Given the description of an element on the screen output the (x, y) to click on. 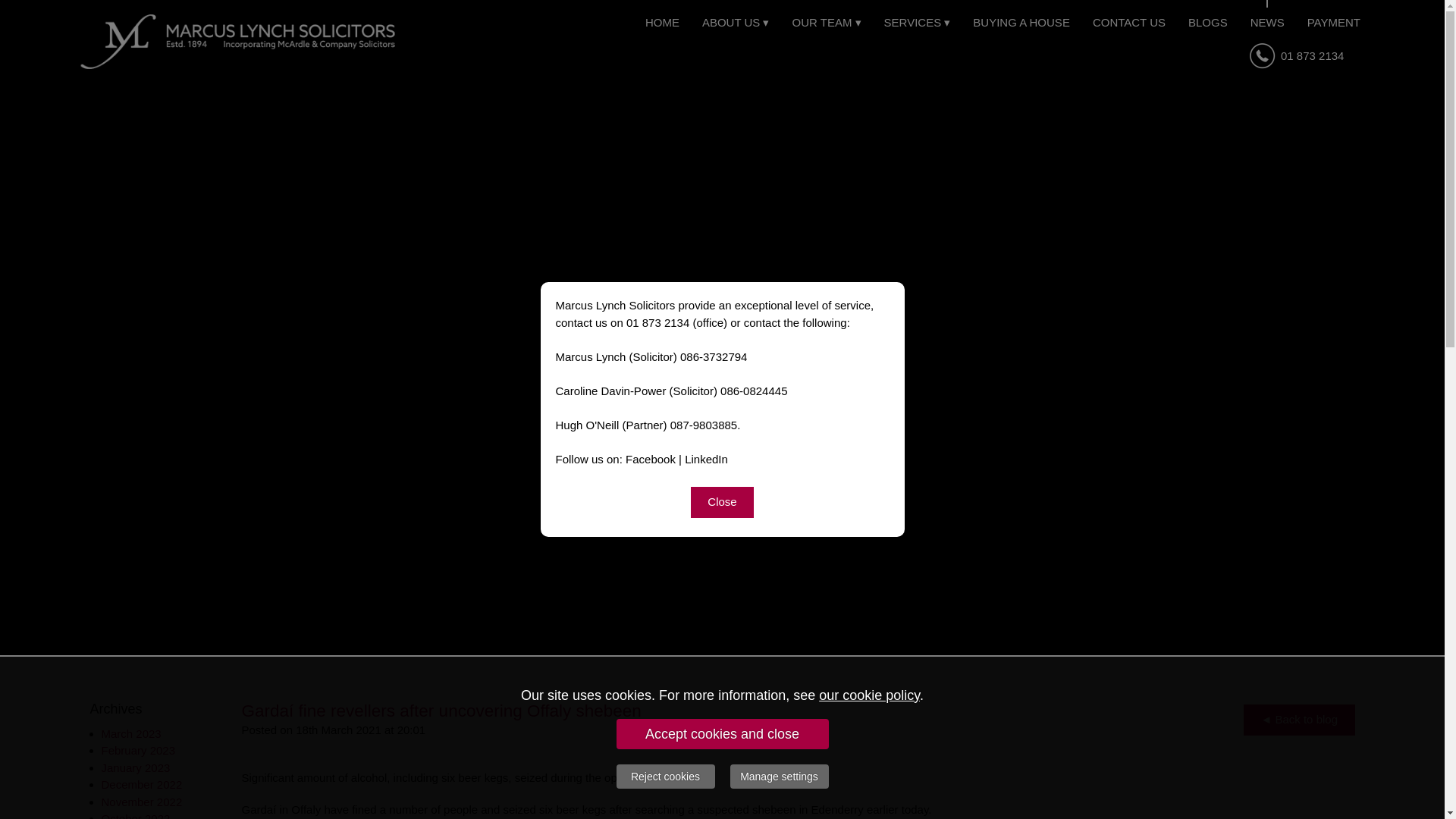
October 2022 (135, 815)
November 2022 (142, 800)
Back to blog (1299, 720)
CONTACT US (1128, 22)
March 2023 (131, 732)
NEWS (1267, 22)
January 2023 (135, 767)
BLOGS (1207, 22)
HOME (661, 22)
February 2023 (138, 749)
